Given the description of an element on the screen output the (x, y) to click on. 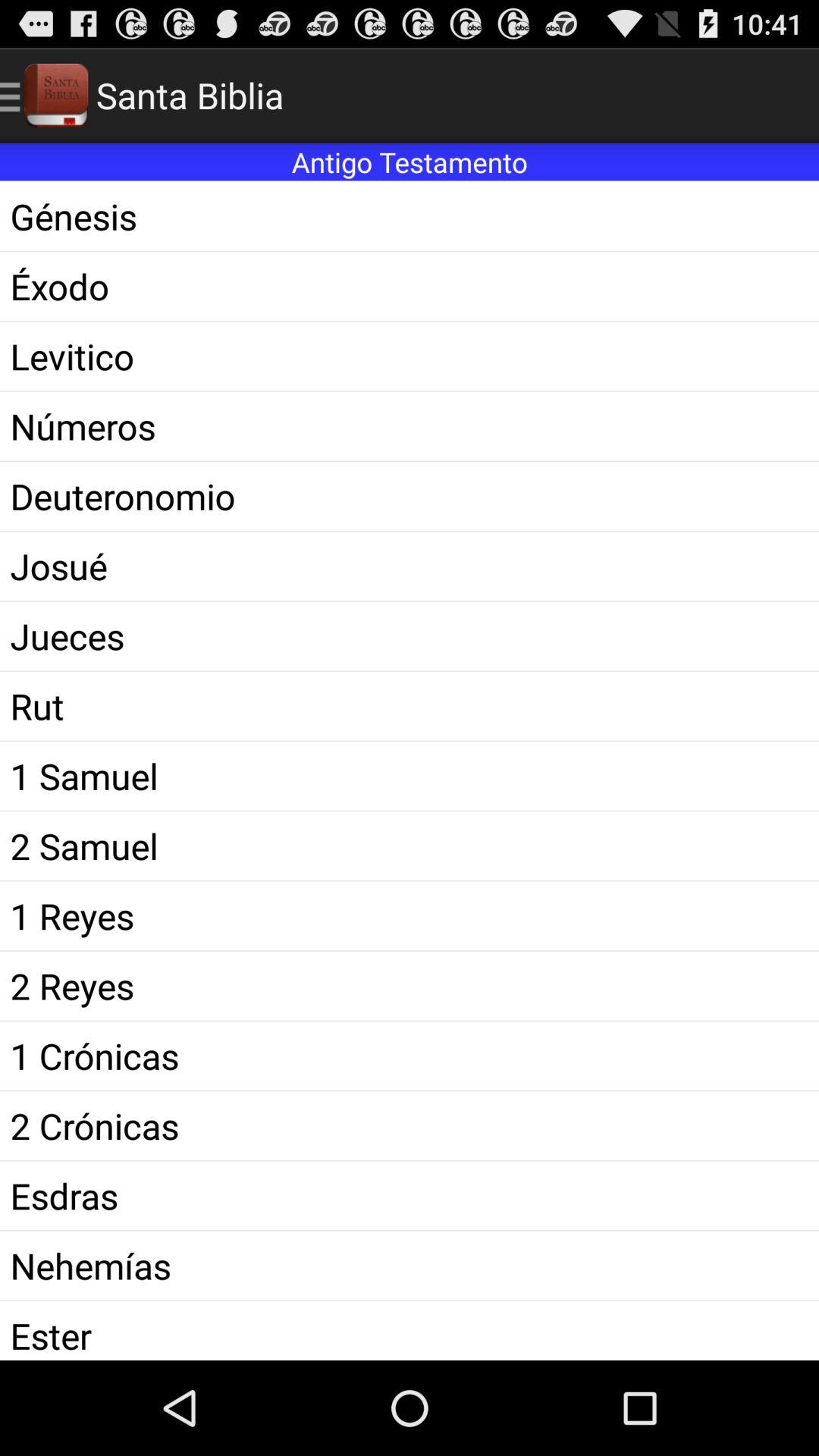
launch app above 2 samuel item (409, 775)
